Given the description of an element on the screen output the (x, y) to click on. 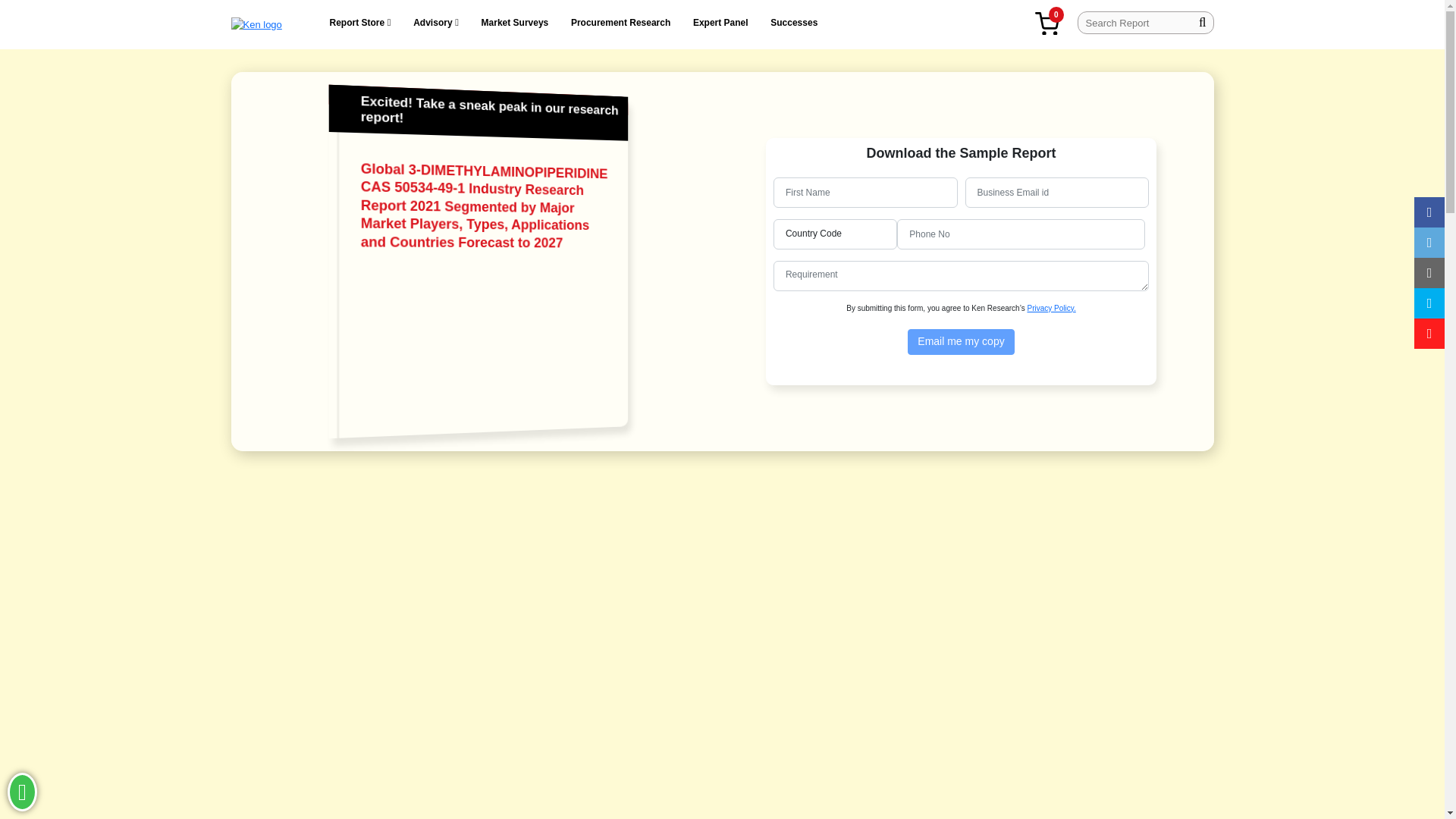
Advisory (432, 22)
Submit (960, 341)
Expert Panel (720, 22)
Successes (793, 22)
Market Surveys (514, 22)
Report Store (357, 22)
Email me my copy (960, 341)
Procurement Research (619, 22)
Privacy Policy. (1050, 307)
